Given the description of an element on the screen output the (x, y) to click on. 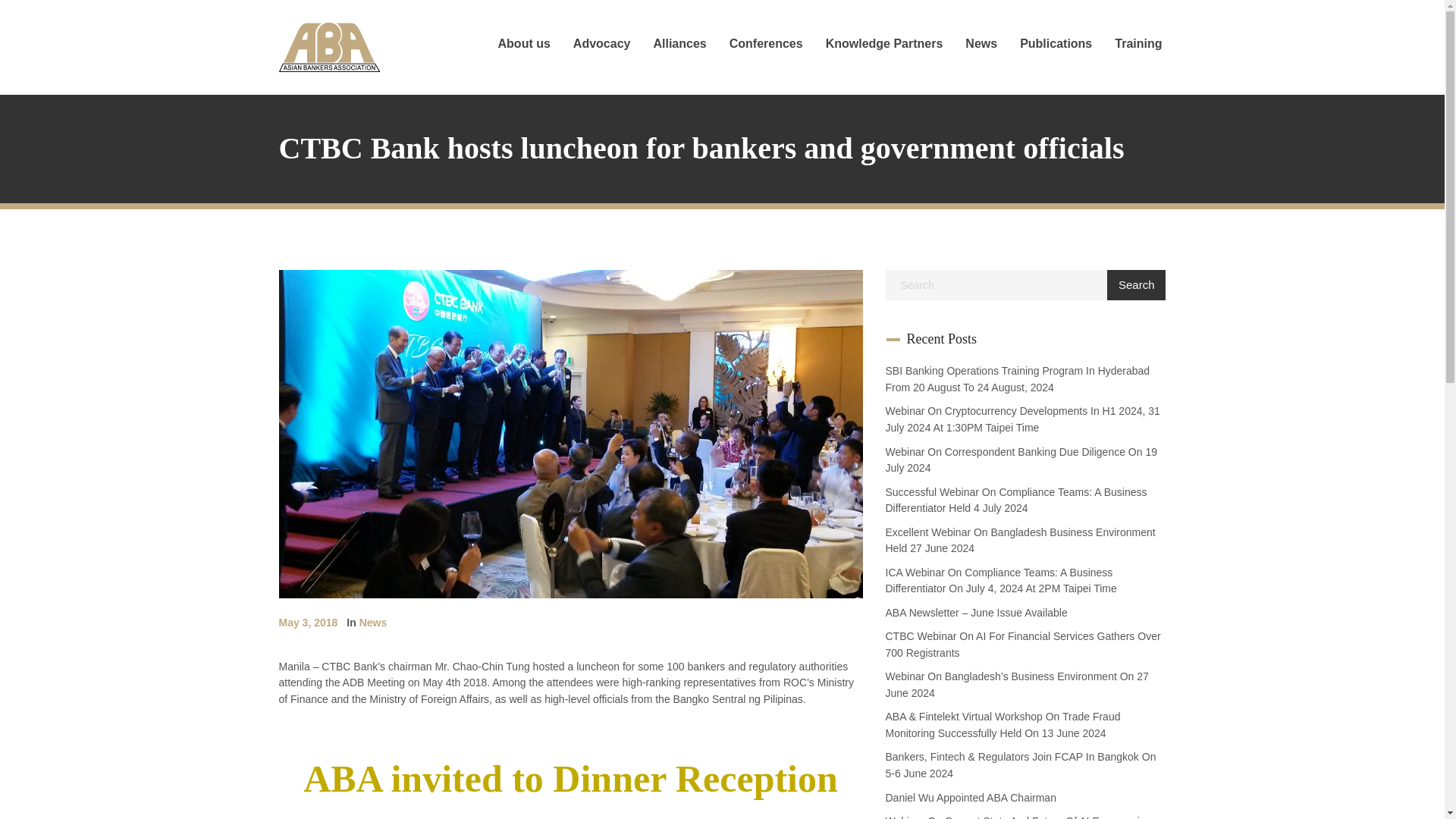
Training (1138, 44)
Conferences (765, 44)
Search (1136, 285)
News (980, 44)
Publications (1056, 44)
Knowledge Partners (884, 44)
Advocacy (601, 44)
Knowledge Partners (884, 44)
May 3, 2018 (308, 622)
News (980, 44)
About us (524, 44)
News (373, 622)
Alliances (679, 44)
